Given the description of an element on the screen output the (x, y) to click on. 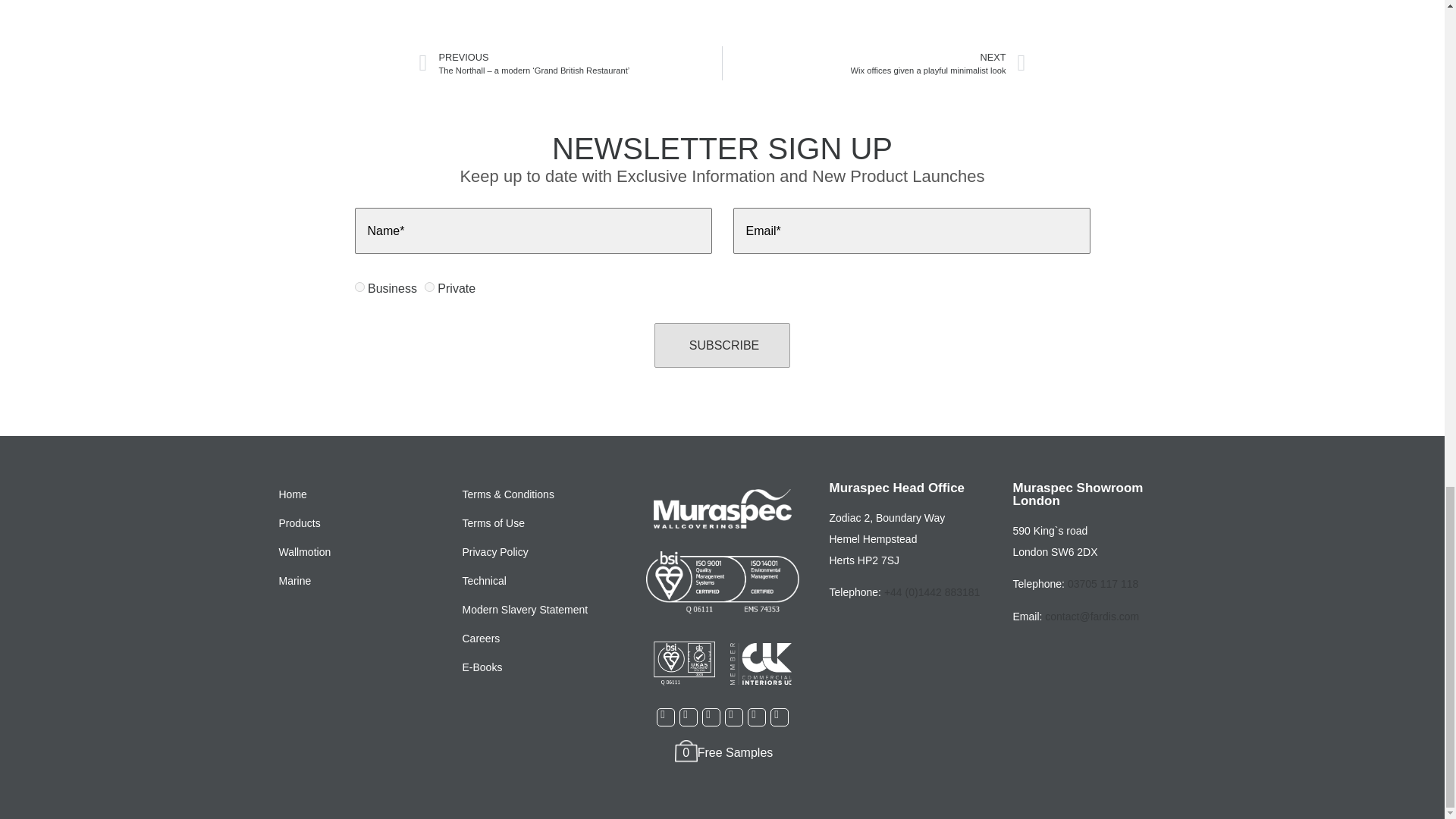
Private (429, 286)
Business (360, 286)
